Given the description of an element on the screen output the (x, y) to click on. 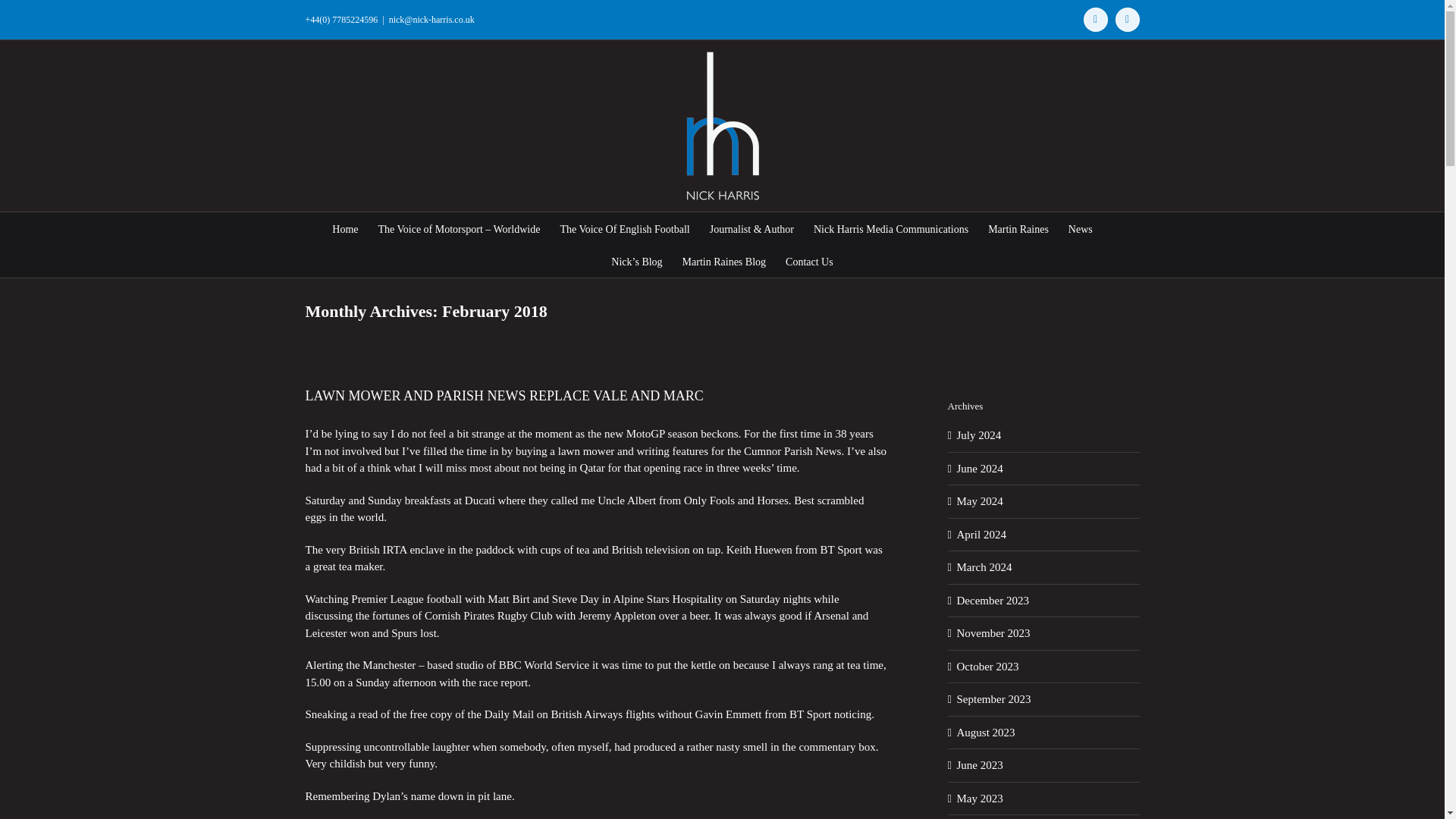
X (1126, 19)
Nick Harris Media Communications (890, 228)
Contact Us (809, 260)
Martin Raines (1018, 228)
LAWN MOWER AND PARISH NEWS REPLACE VALE AND MARC (503, 395)
Vimeo (1094, 19)
The Voice Of English Football (623, 228)
Martin Raines Blog (723, 260)
